Given the description of an element on the screen output the (x, y) to click on. 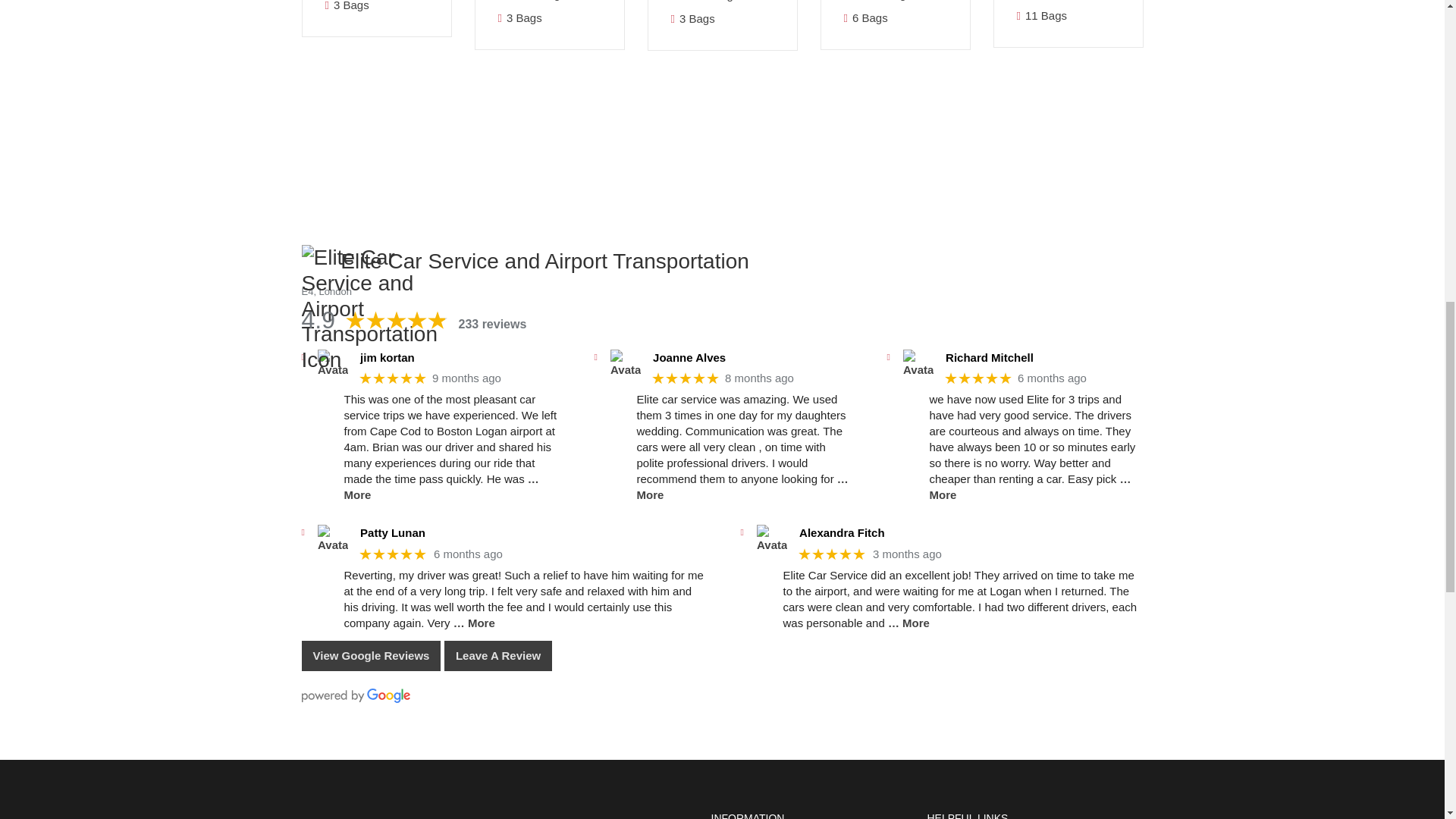
Cadillac XT6 (721, 20)
Cadillac XTS (375, 19)
Chevrolet Suburban SUV (895, 19)
Powered by Google (355, 695)
Toyota Avalon Hybri (548, 19)
